Given the description of an element on the screen output the (x, y) to click on. 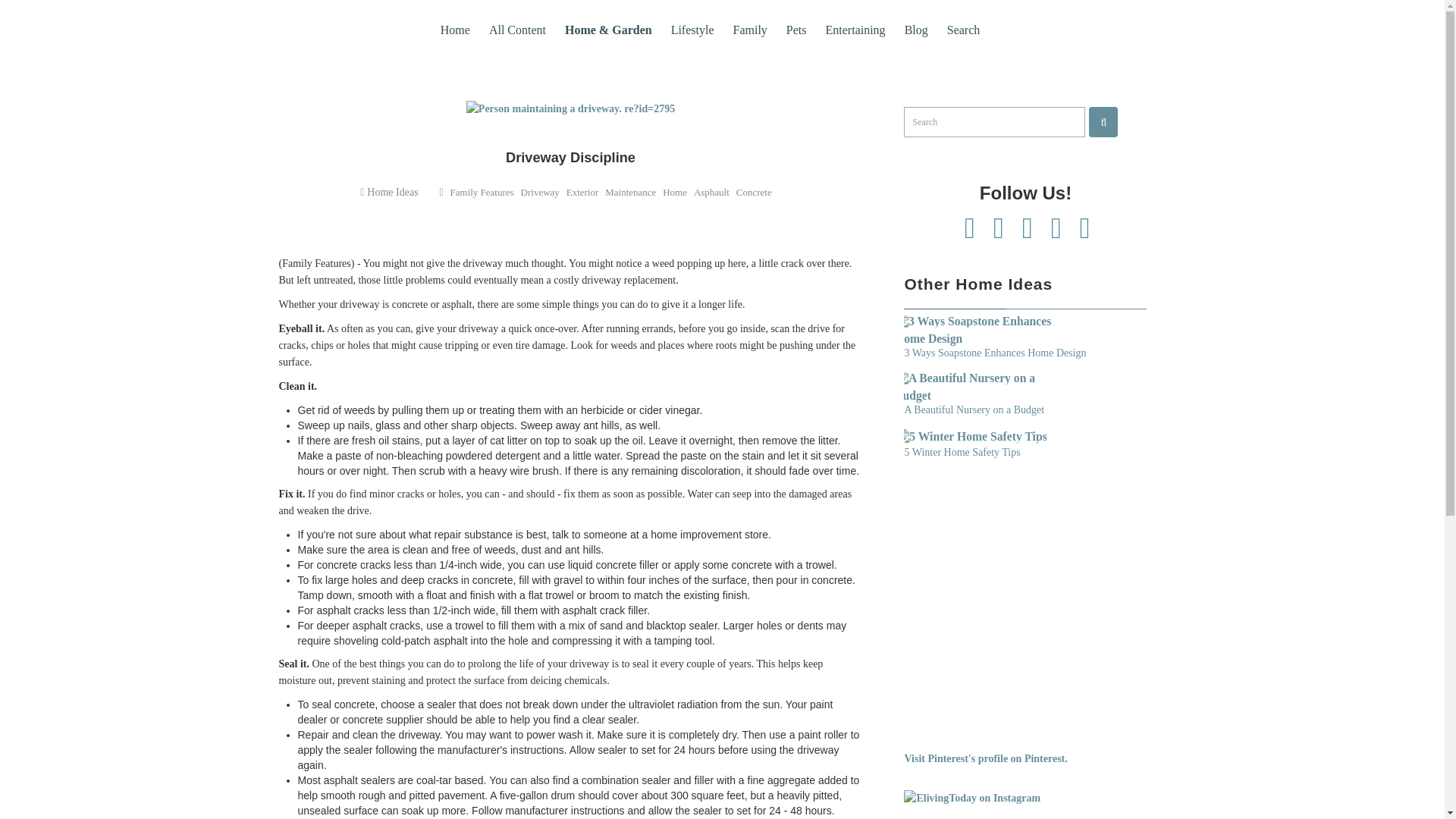
Concrete (753, 192)
Search (963, 30)
Continue reading (979, 437)
Continue reading (979, 330)
Asphault (711, 192)
Driveway (540, 192)
Home (454, 30)
Pets (795, 30)
Entertaining (855, 30)
Search (1103, 122)
